Given the description of an element on the screen output the (x, y) to click on. 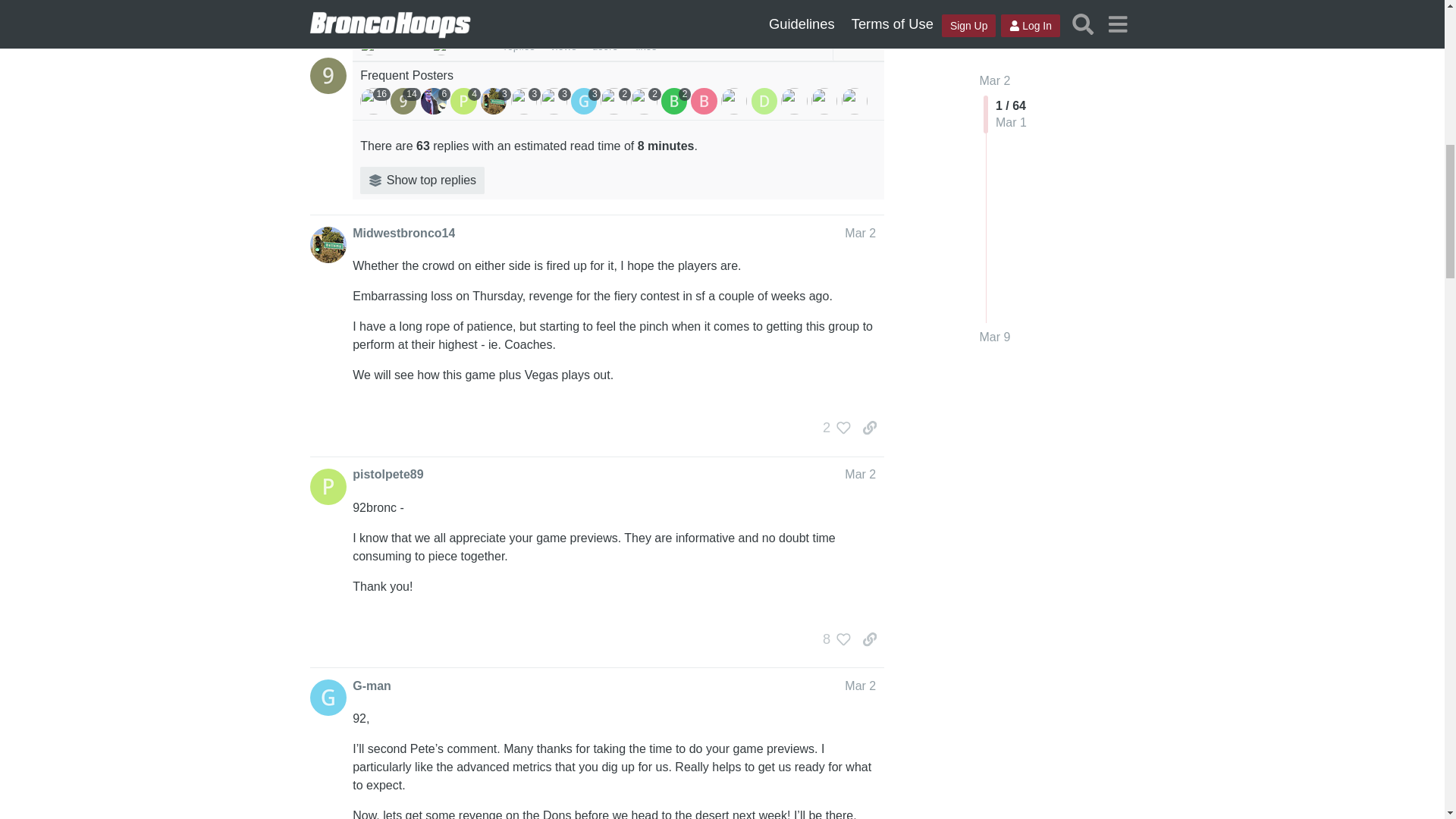
2 (614, 100)
2 (645, 100)
14 (405, 100)
3 (526, 100)
16 (374, 100)
last reply (460, 27)
3 (495, 100)
buckets (440, 45)
6 (435, 100)
92bronc (368, 45)
collapse topic details (857, 37)
Mar 2, 2024 10:23 am (400, 44)
2 (676, 100)
4 (464, 100)
3 (585, 100)
